Given the description of an element on the screen output the (x, y) to click on. 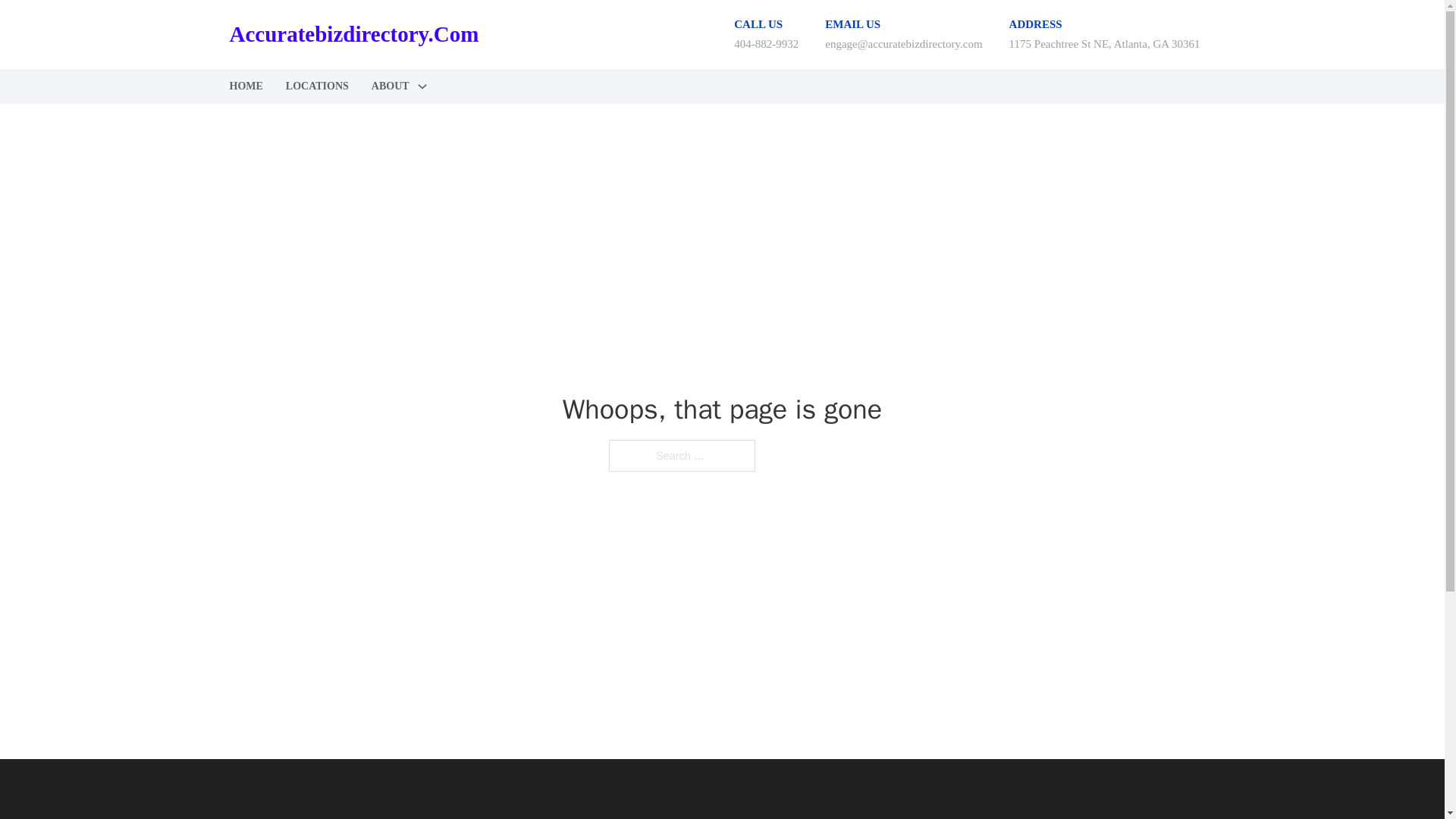
LOCATIONS (317, 85)
HOME (245, 85)
Accuratebizdirectory.Com (353, 34)
404-882-9932 (765, 43)
